Given the description of an element on the screen output the (x, y) to click on. 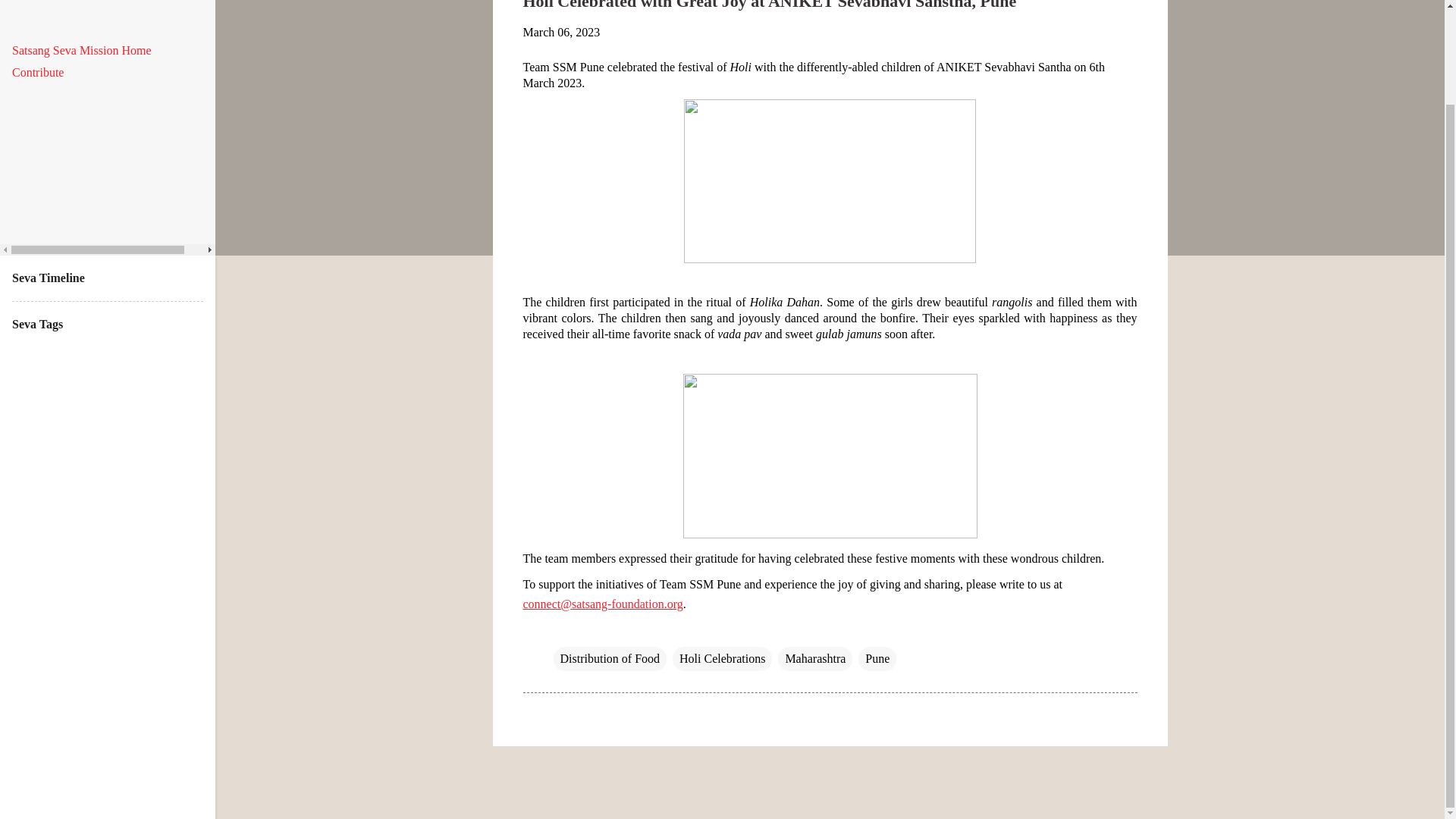
Contribute (37, 72)
permanent link (560, 31)
Holi Celebrations (721, 658)
Pune (877, 658)
March 06, 2023 (560, 31)
Distribution of Food (609, 658)
Powered by Blogger (830, 779)
Satsang Seva Mission Home (81, 50)
Maharashtra (814, 658)
